Given the description of an element on the screen output the (x, y) to click on. 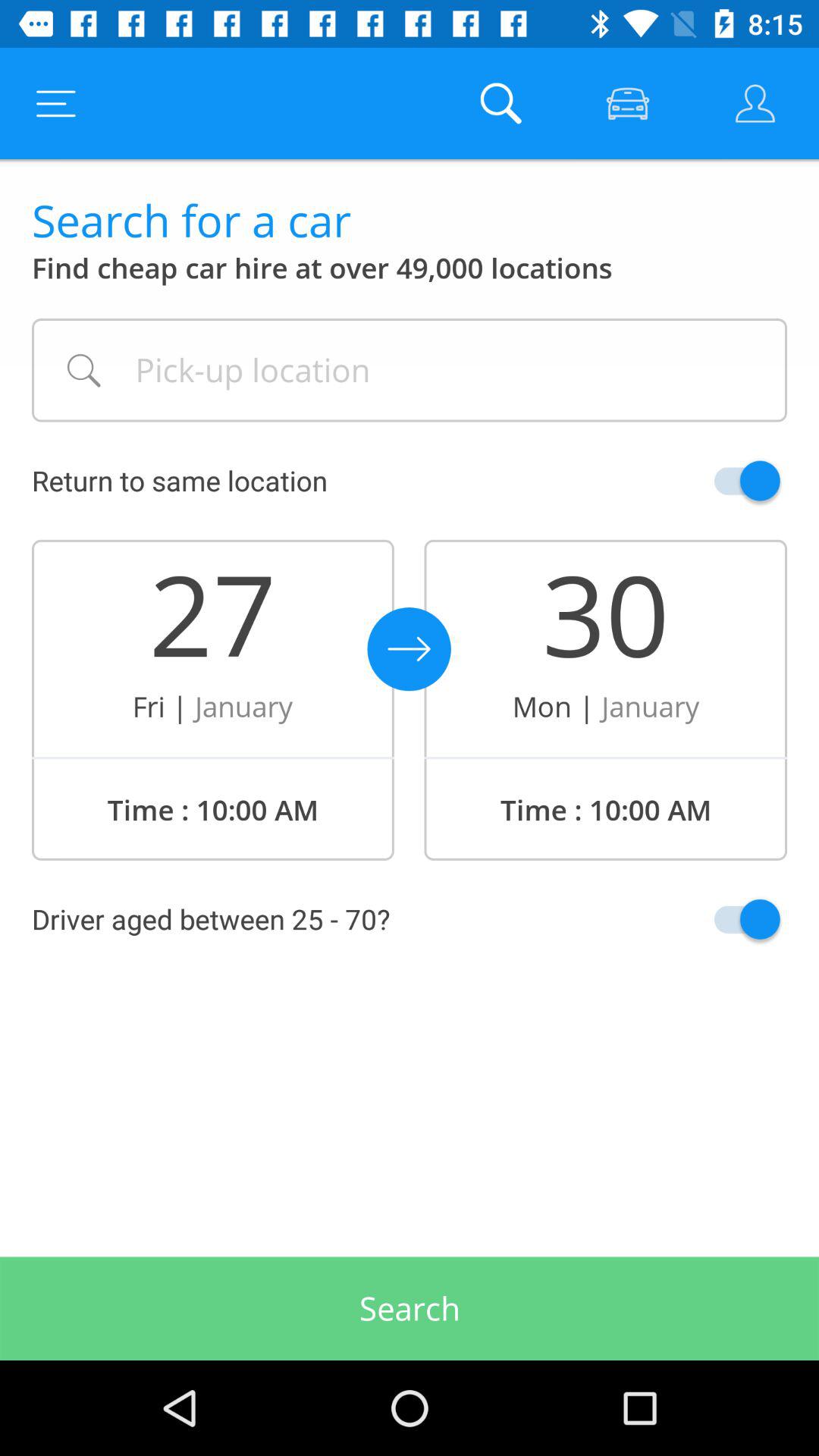
toggle return location selection (711, 480)
